Given the description of an element on the screen output the (x, y) to click on. 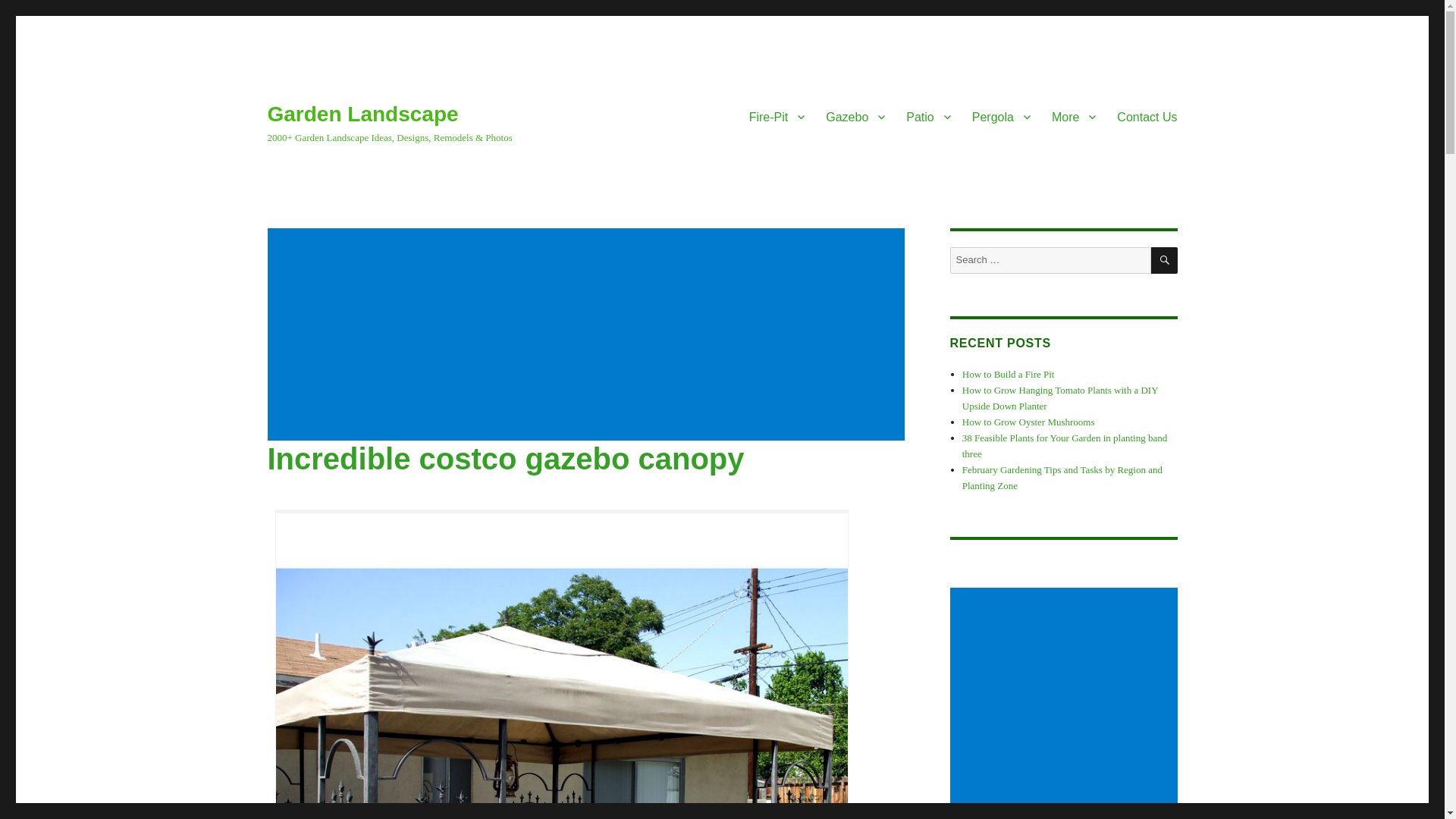
Gazebo (855, 116)
Garden Landscape (362, 114)
Fire-Pit (776, 116)
Patio (927, 116)
